Given the description of an element on the screen output the (x, y) to click on. 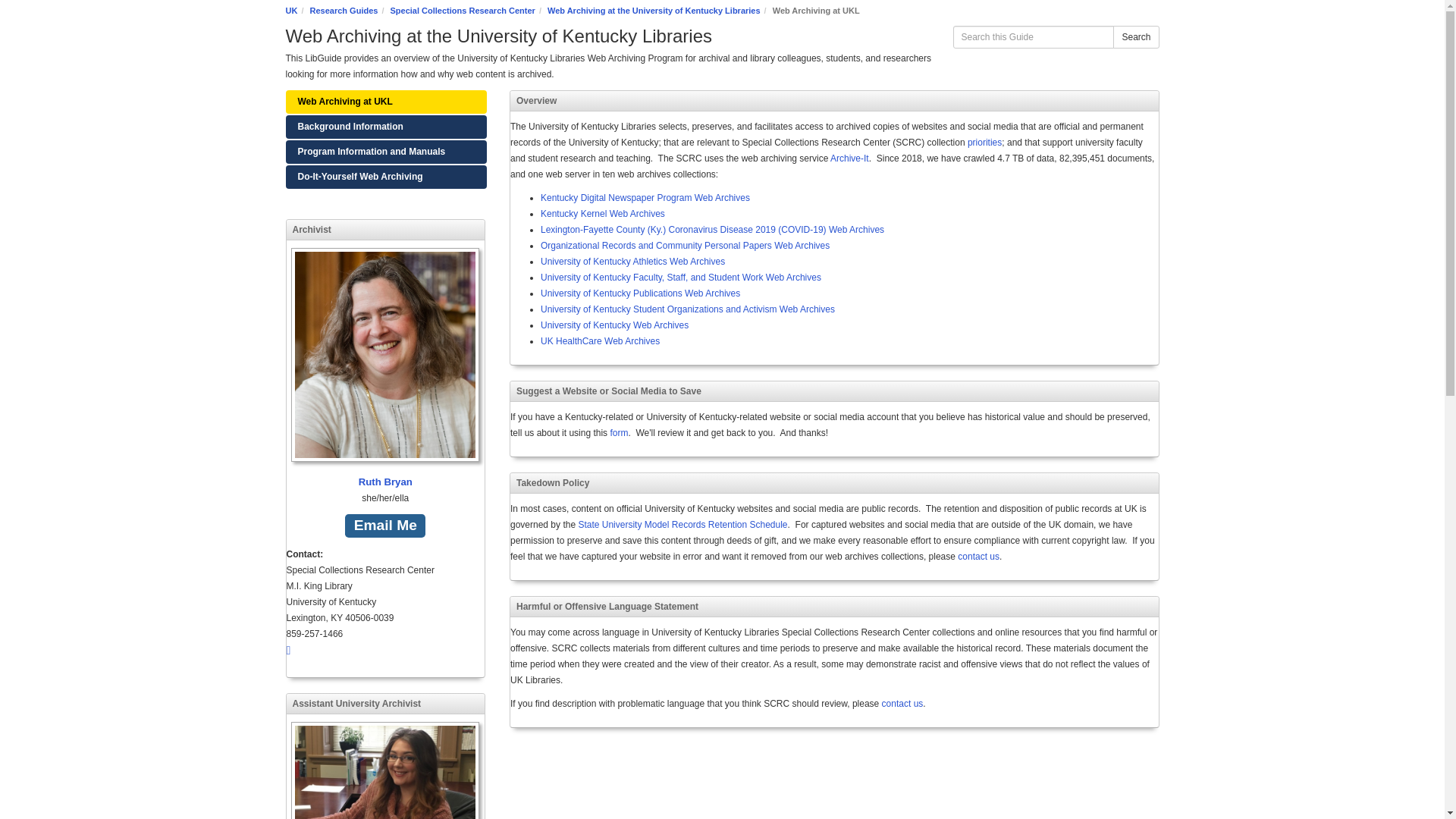
State University Model Records Retention Schedule (682, 524)
University of Kentucky Web Archives (614, 325)
Program Information and Manuals (385, 151)
Web Archiving at the University of Kentucky Libraries (653, 10)
University of Kentucky Athletics Web Archives (632, 261)
University of Kentucky Publications Web Archives (639, 293)
Archive-It (849, 158)
